Given the description of an element on the screen output the (x, y) to click on. 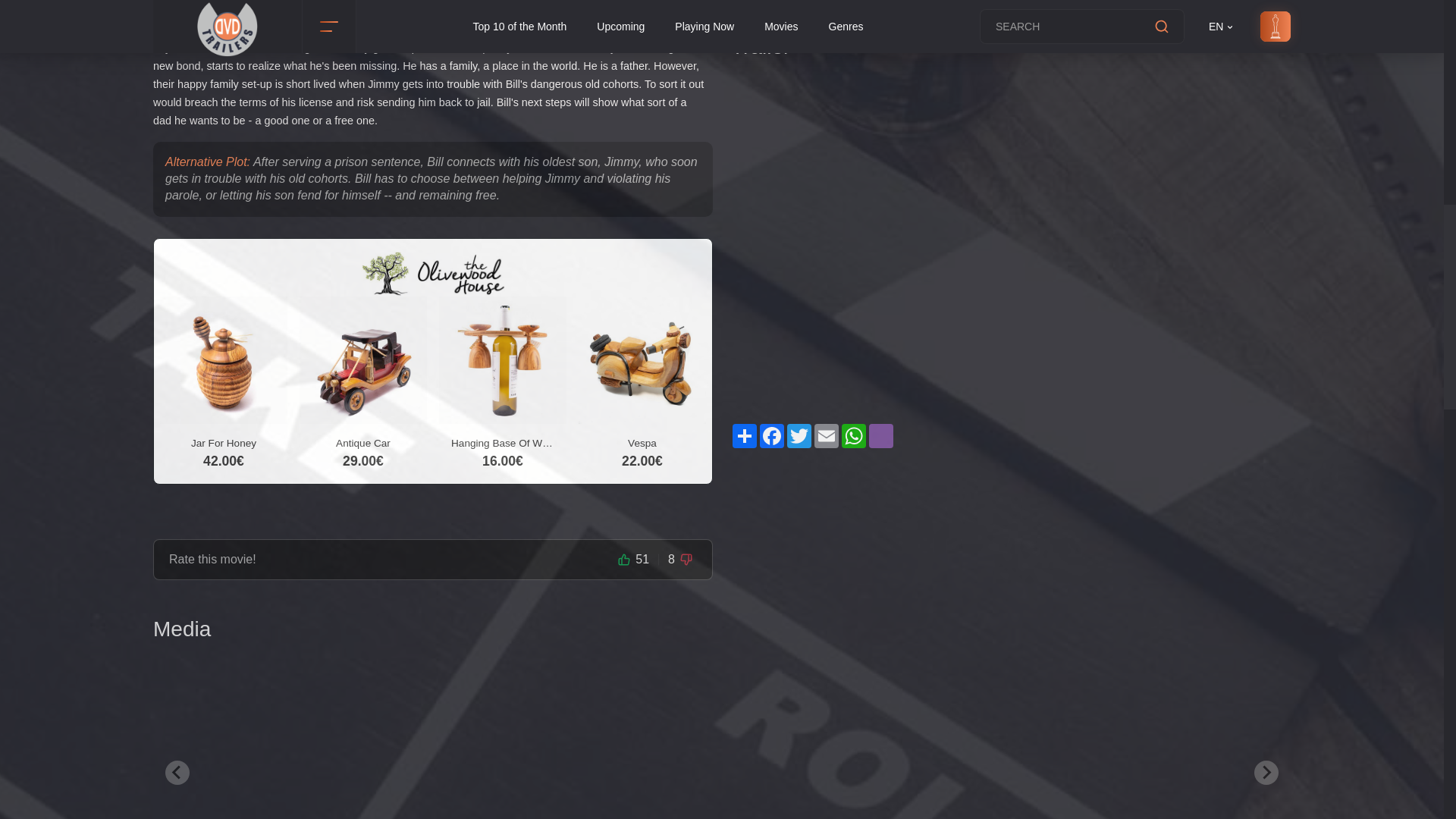
Jar For Honey  (224, 411)
Hanging Base Of Wine For Two Glasses (502, 411)
Antique Car (363, 411)
